Given the description of an element on the screen output the (x, y) to click on. 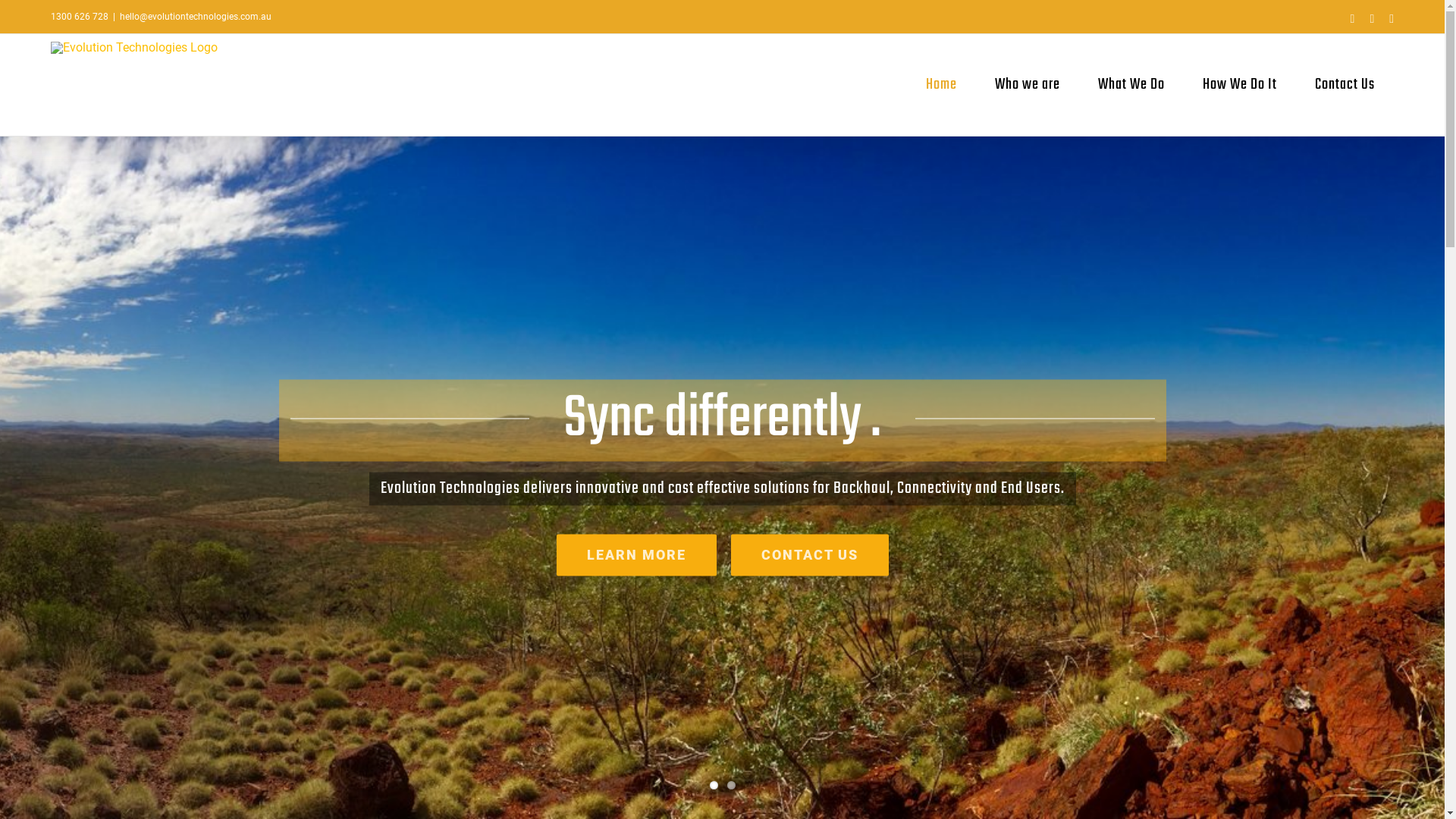
CONTACT US Element type: text (809, 555)
hello@evolutiontechnologies.com.au Element type: text (195, 16)
Home Element type: text (940, 84)
1 Element type: text (713, 785)
Contact Us Element type: text (1344, 84)
How We Do It Element type: text (1239, 84)
Who we are Element type: text (1027, 84)
LEARN MORE Element type: text (636, 555)
What We Do Element type: text (1131, 84)
2 Element type: text (730, 785)
